Given the description of an element on the screen output the (x, y) to click on. 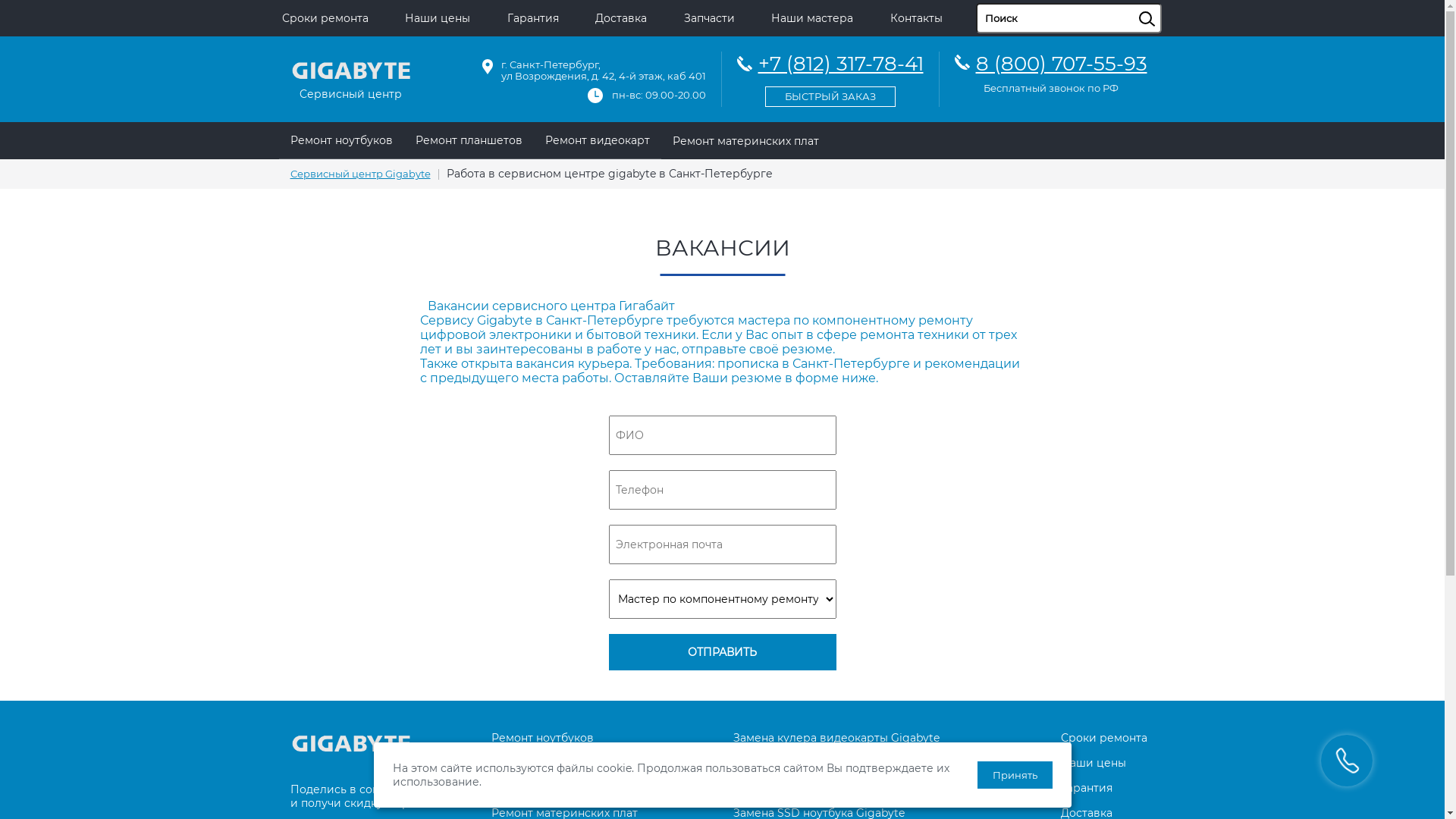
8 (800) 707-55-93 Element type: text (1060, 63)
sisea.search Element type: text (1165, 3)
+7 (812) 317-78-41 Element type: text (830, 77)
